Given the description of an element on the screen output the (x, y) to click on. 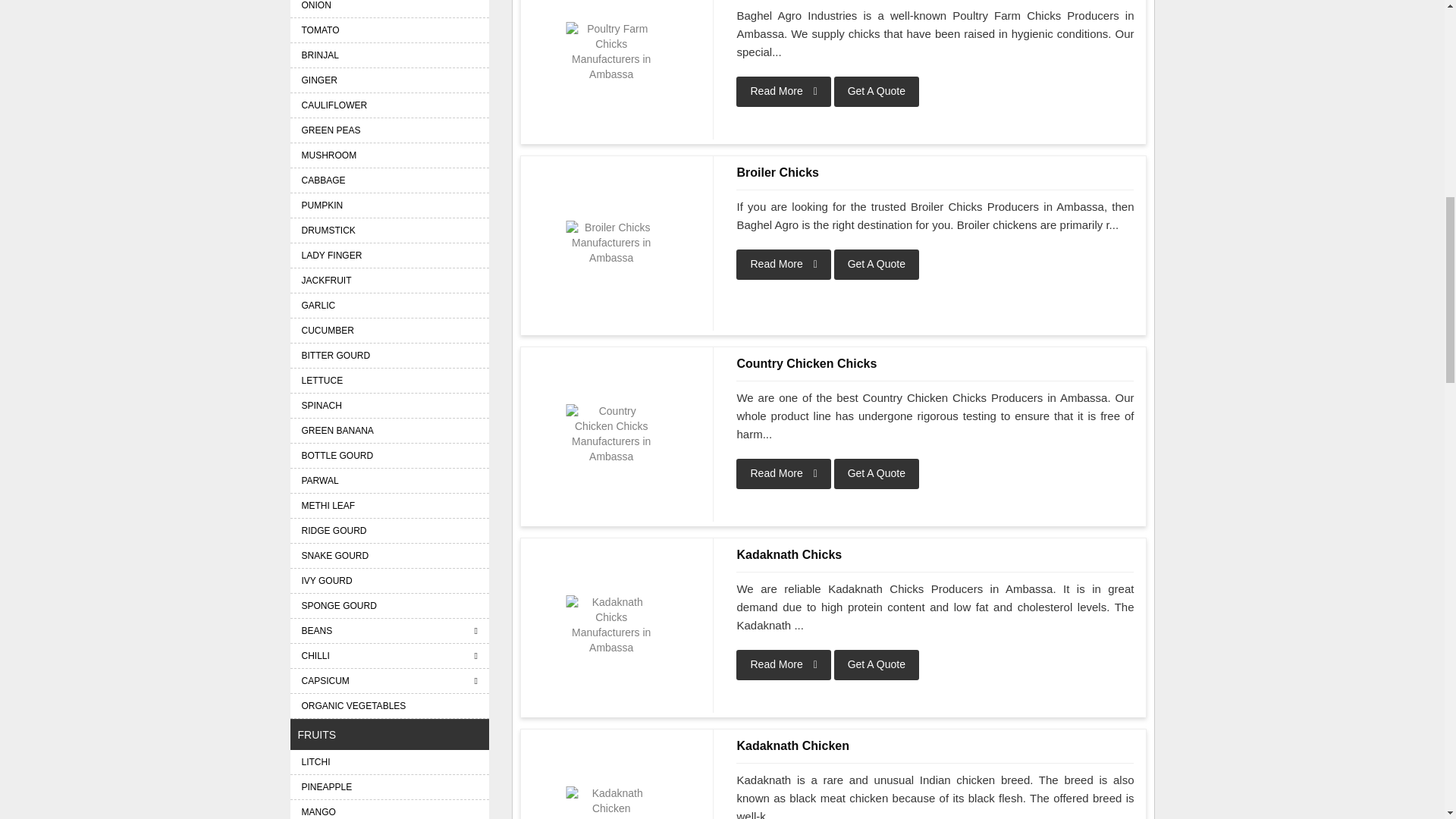
Read More (782, 473)
Kadaknath Chicks (935, 555)
Kadaknath Chicken (935, 746)
Read More (782, 665)
Broiler Chicks (935, 172)
Broiler Chicks (935, 172)
 Poultry Farm Chicks Manufacturers in Ambassa (611, 52)
 Broiler Chicks Manufacturers in Ambassa (611, 243)
Get A Quote (876, 264)
Broiler Chicks (611, 243)
